Given the description of an element on the screen output the (x, y) to click on. 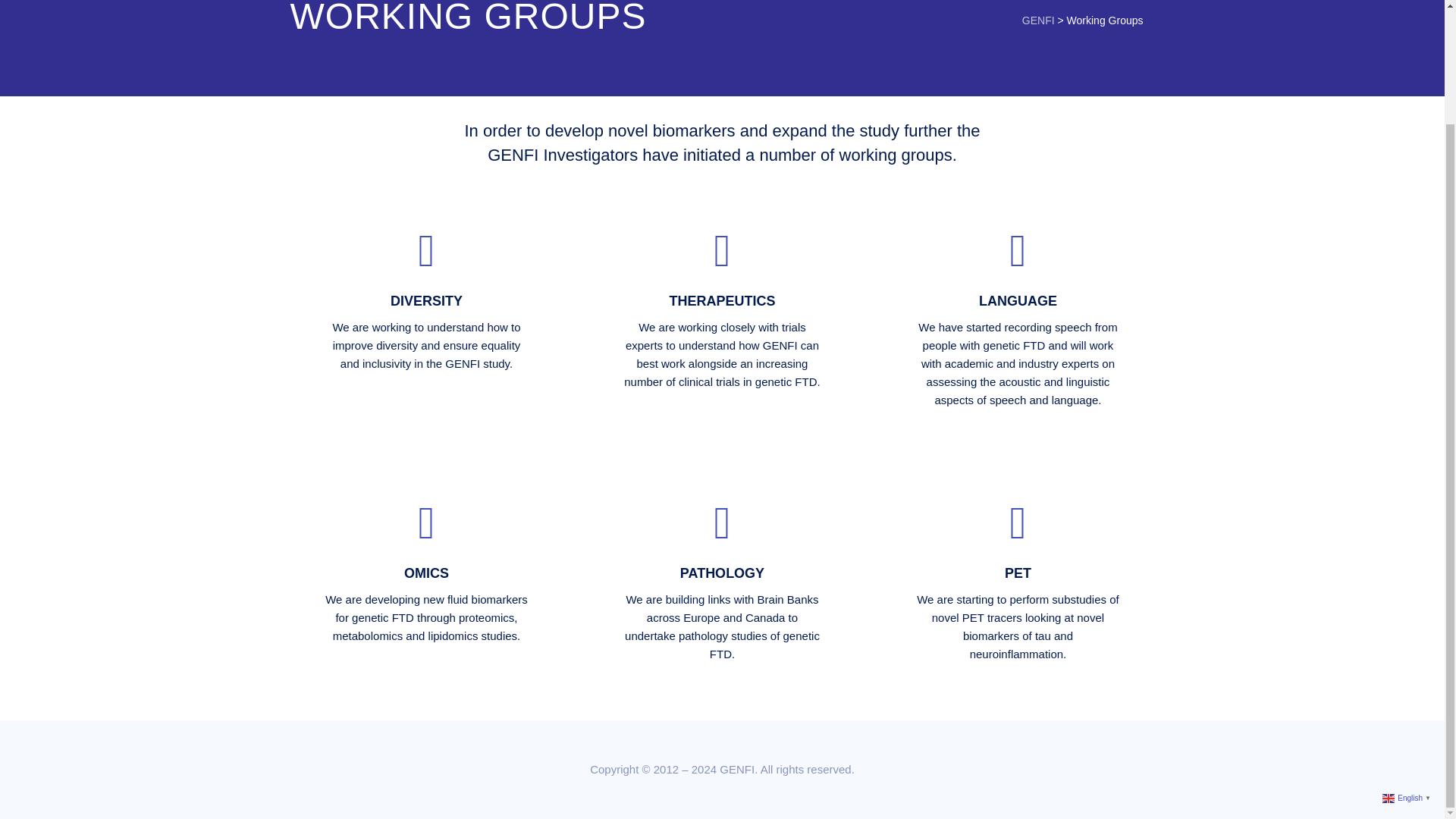
GENFI (736, 768)
GENFI (1038, 20)
Go to GENFI. (1038, 20)
